Given the description of an element on the screen output the (x, y) to click on. 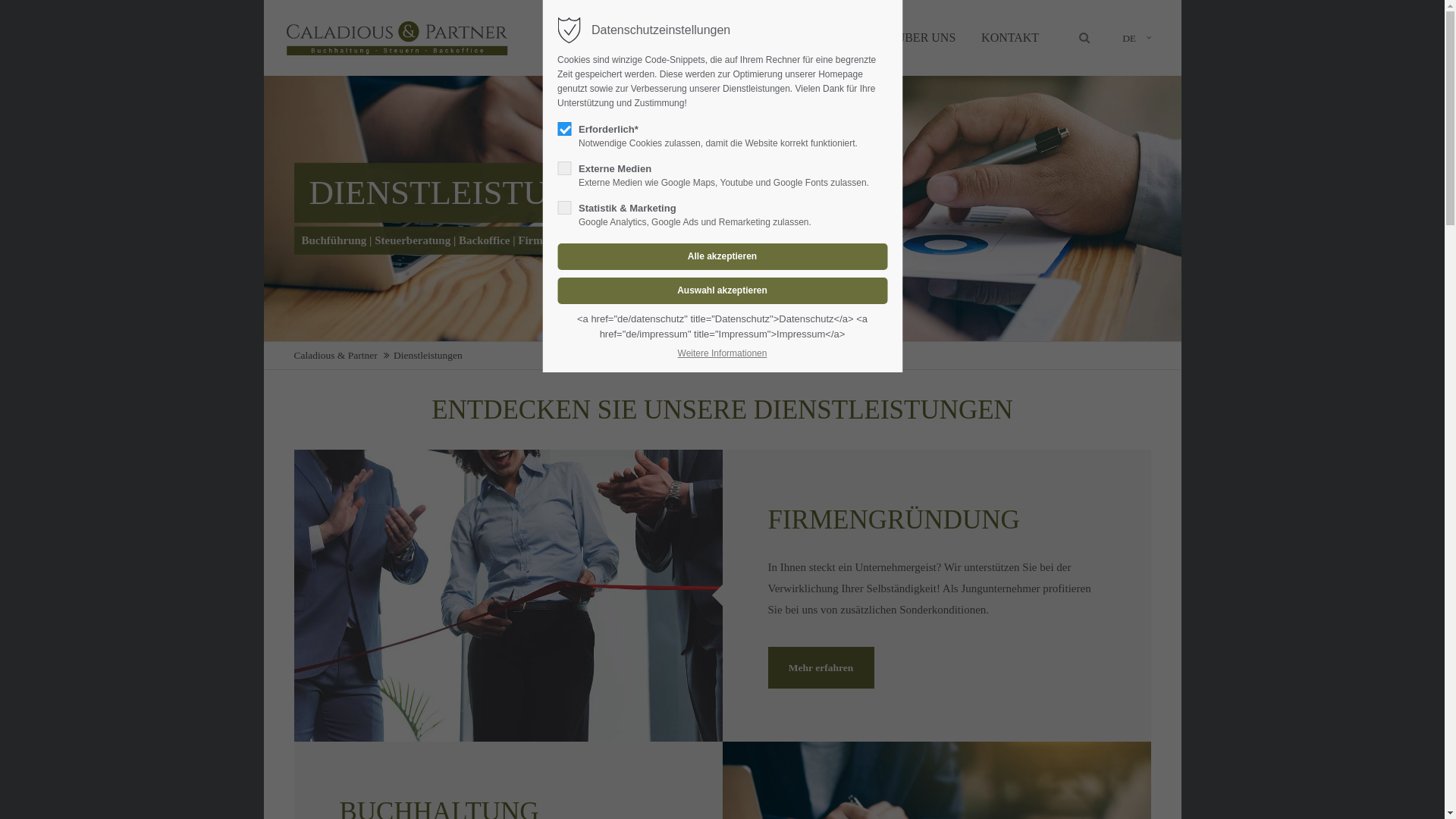
Caladious & Partner Element type: text (335, 354)
Auswahl akzeptieren Element type: text (722, 290)
Dienstleistungen Element type: text (427, 354)
Mehr erfahren Element type: text (820, 666)
ABAWEB Element type: text (844, 37)
ABACUS Element type: text (768, 37)
KONTAKT Element type: text (1009, 37)
DIENSTLEISTUNGEN Element type: text (658, 37)
Alle akzeptieren Element type: text (722, 256)
Weitere Informationen Element type: text (722, 352)
